Given the description of an element on the screen output the (x, y) to click on. 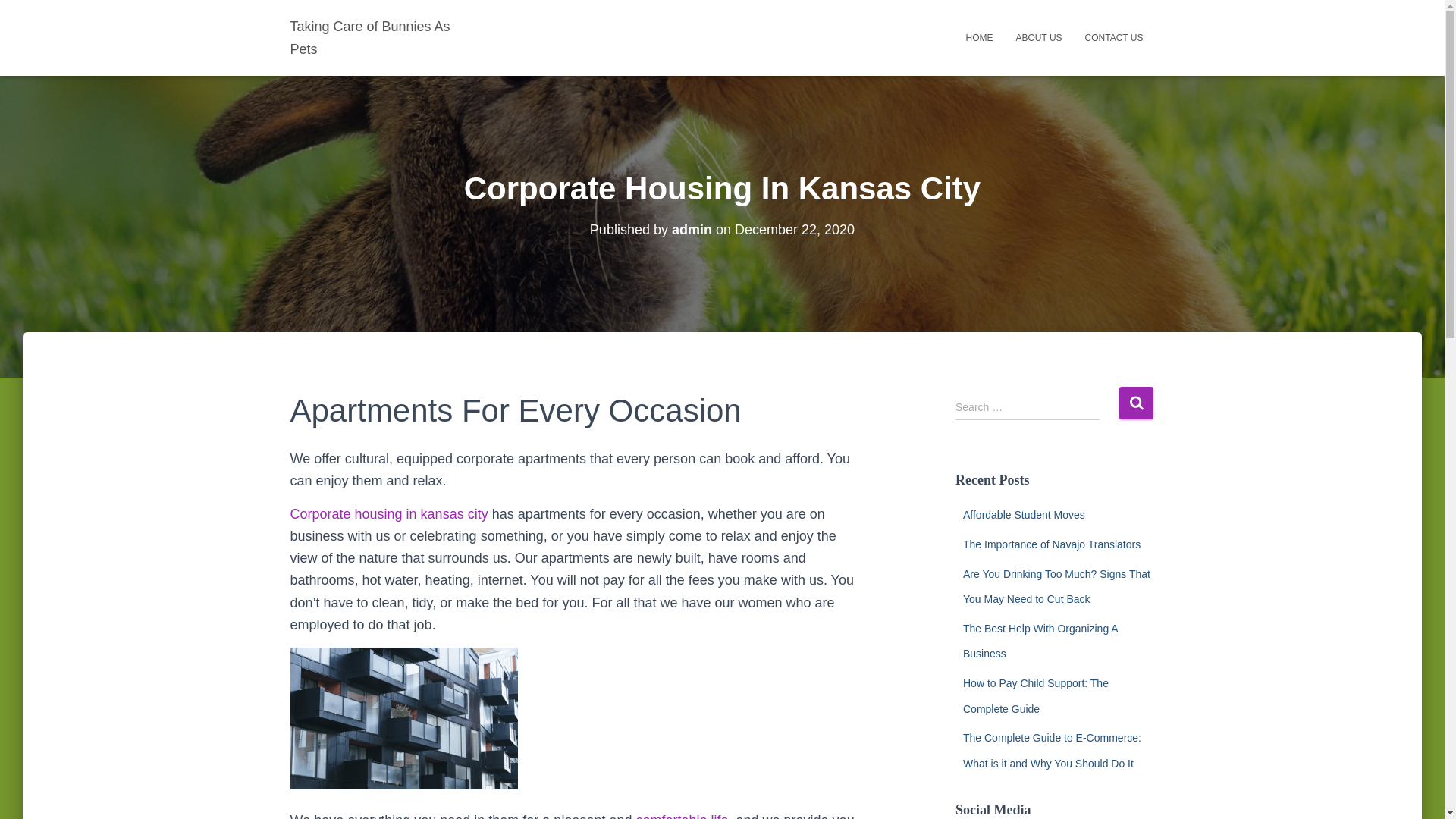
Contact us (1114, 37)
comfortable life (681, 816)
Corporate housing in kansas city (388, 513)
The Best Help With Organizing A Business (1040, 641)
ABOUT US (1038, 37)
Taking Care of Bunnies As Pets (379, 37)
admin (691, 229)
HOME (978, 37)
Home (978, 37)
The Importance of Navajo Translators (1051, 544)
About us (1038, 37)
Taking Care of Bunnies As Pets (379, 37)
Search (1136, 402)
